Given the description of an element on the screen output the (x, y) to click on. 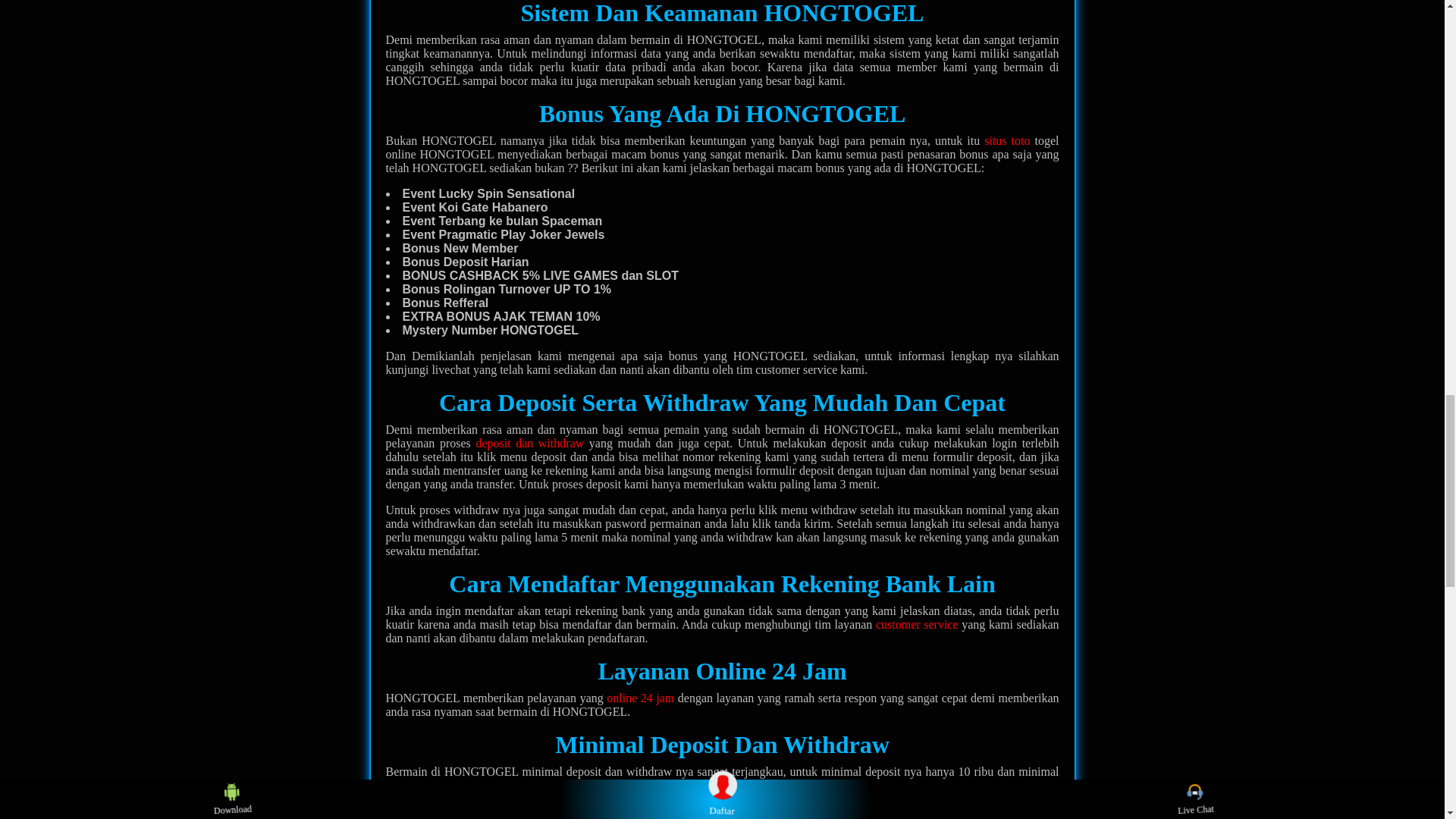
online 24 jam (640, 697)
situs toto (1006, 140)
deposit dan withdraw (529, 442)
customer service (917, 624)
togel online (1029, 784)
bet 100 perak (654, 784)
